Given the description of an element on the screen output the (x, y) to click on. 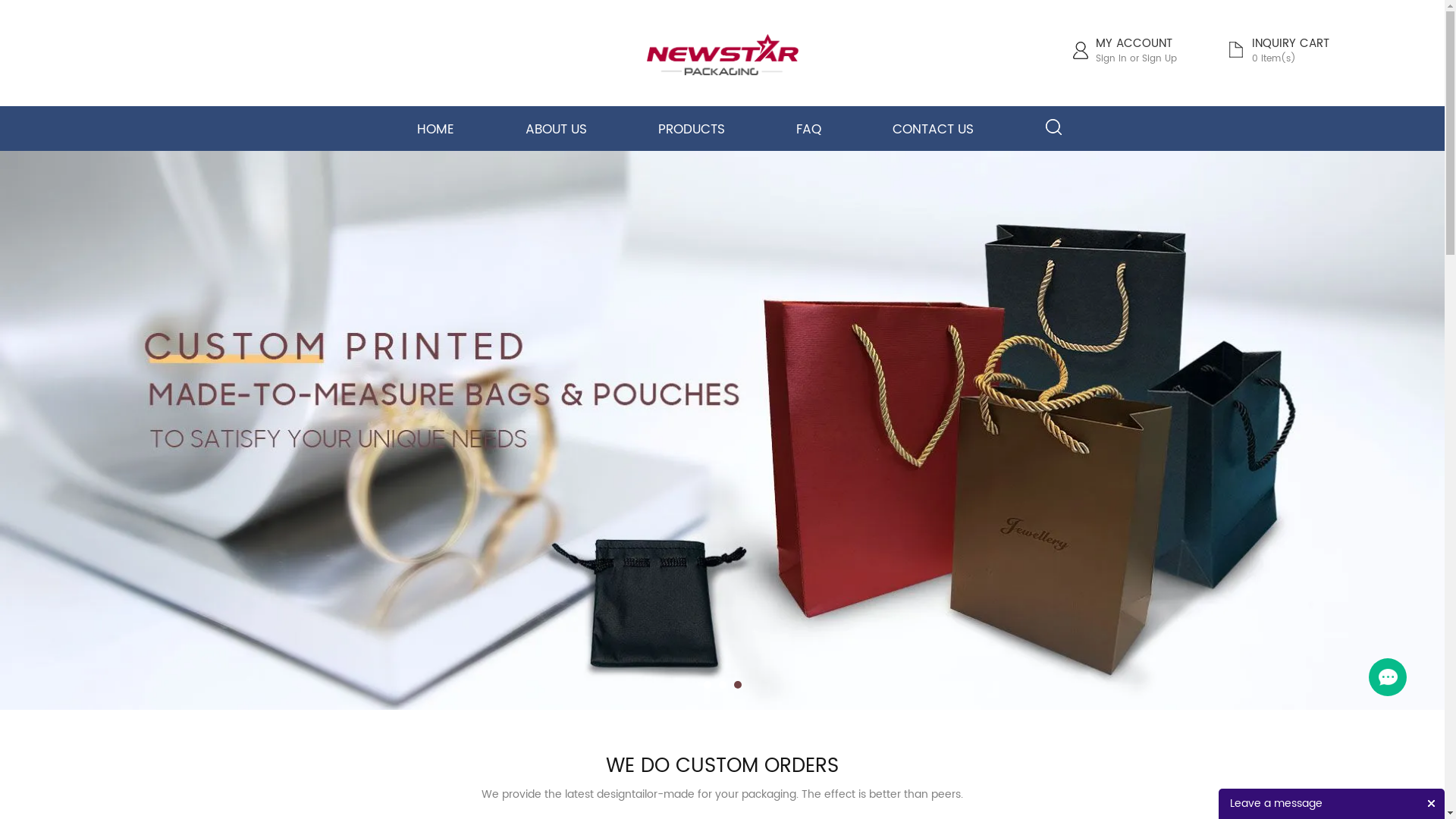
ABOUT US Element type: text (556, 129)
3 Element type: text (737, 684)
CONTACT US Element type: text (932, 129)
Sign Up Element type: text (1159, 58)
Sign In Element type: text (1110, 58)
1 Element type: text (707, 684)
FAQ Element type: text (808, 129)
PRODUCTS Element type: text (691, 129)
0 Item(s) Element type: text (1273, 58)
2 Element type: text (722, 684)
HOME Element type: text (435, 129)
